Given the description of an element on the screen output the (x, y) to click on. 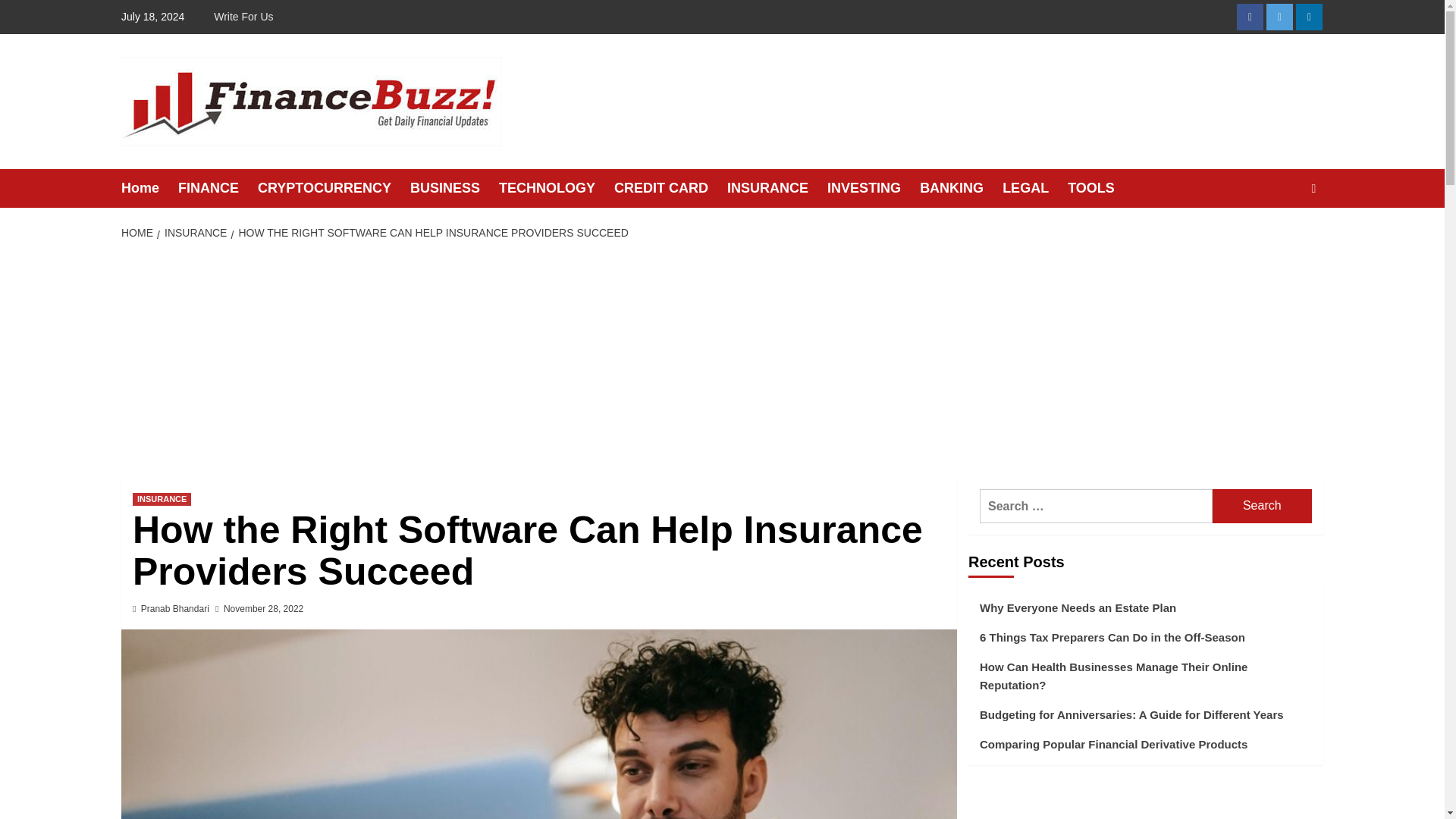
INSURANCE (193, 232)
CREDIT CARD (670, 188)
FINANCE (217, 188)
TECHNOLOGY (556, 188)
Pranab Bhandari (175, 608)
INSURANCE (161, 499)
HOW THE RIGHT SOFTWARE CAN HELP INSURANCE PROVIDERS SUCCEED (430, 232)
TOOLS (1100, 188)
November 28, 2022 (263, 608)
Search (1261, 505)
Linkedin (1308, 17)
HOME (138, 232)
Search (1261, 505)
Home (148, 188)
